Given the description of an element on the screen output the (x, y) to click on. 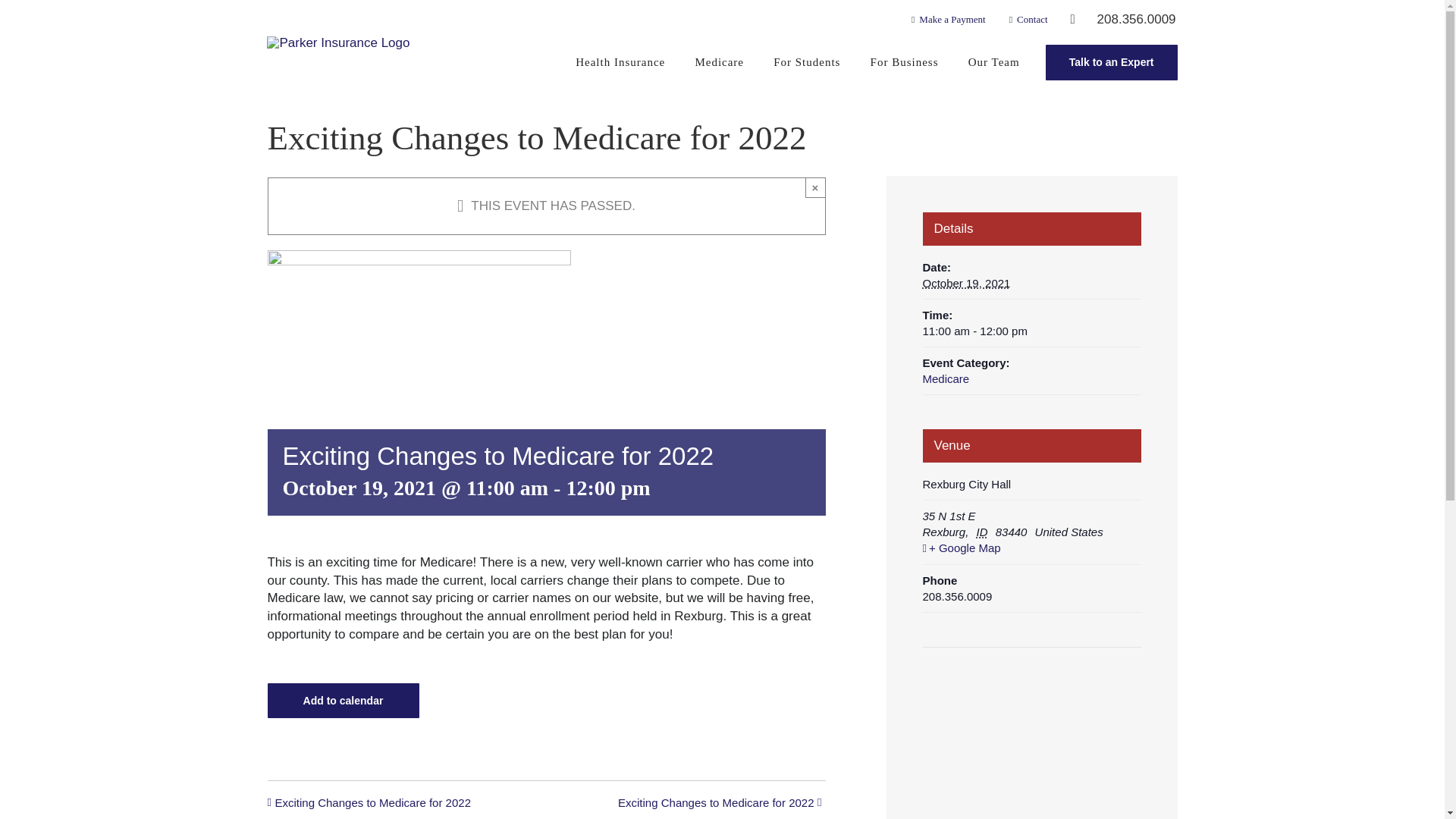
Talk to an Expert (1111, 61)
2021-10-19 (965, 282)
Add to calendar (343, 700)
For Business (904, 62)
For Students (807, 62)
Medicare (719, 62)
Idaho (984, 531)
Make a Payment (946, 19)
Contact (1026, 19)
2021-10-19 (1030, 330)
Exciting Changes to Medicare for 2022 (711, 803)
Click to view a Google Map (1029, 547)
Exciting Changes to Medicare for 2022 (377, 803)
Health Insurance (620, 62)
Medicare (945, 378)
